Given the description of an element on the screen output the (x, y) to click on. 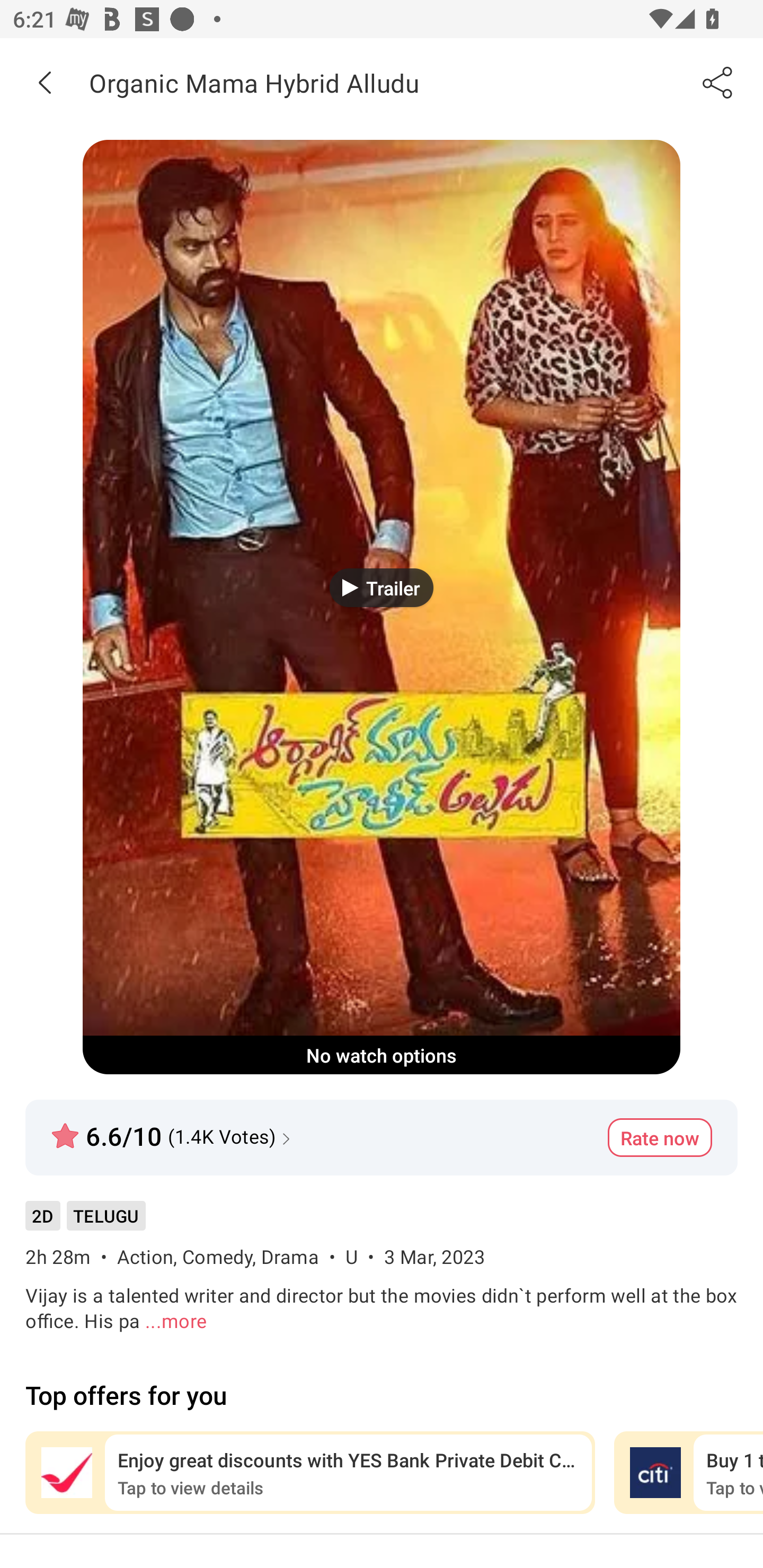
Back (44, 82)
Share (718, 82)
Movie Banner Trailer No watch options (381, 606)
Trailer (381, 586)
6.6/10 (1.4K Votes) (173, 1128)
Rate now (659, 1137)
2D TELUGU (85, 1222)
